Given the description of an element on the screen output the (x, y) to click on. 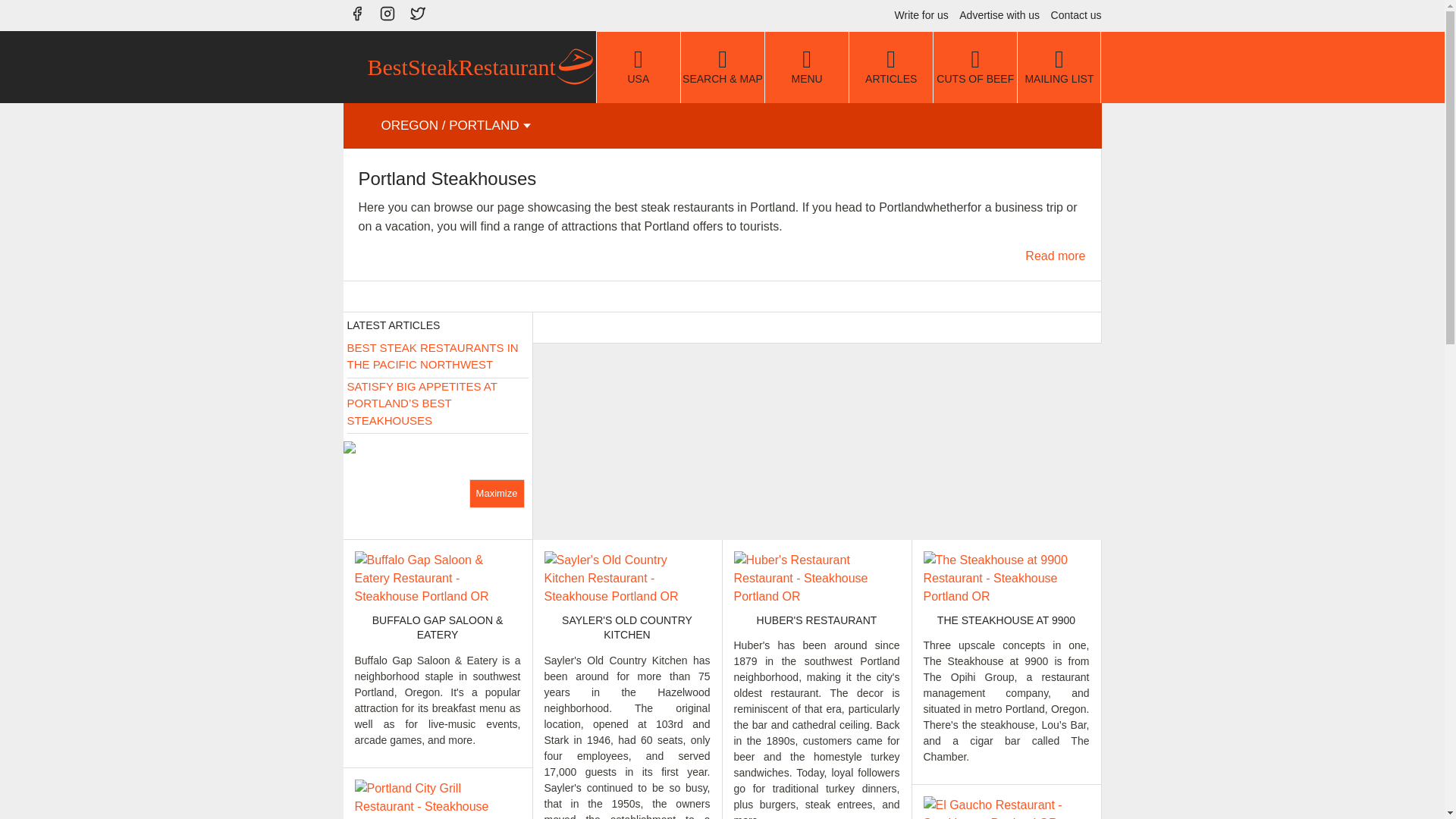
Select by menu (806, 67)
MENU (806, 67)
MAILING LIST (1058, 67)
Portland City Grill (438, 799)
Write for us (917, 15)
Articles (890, 67)
Contact us (1072, 15)
Write for us (917, 15)
Advertise with us (995, 15)
Huber's Restaurant (816, 578)
